Given the description of an element on the screen output the (x, y) to click on. 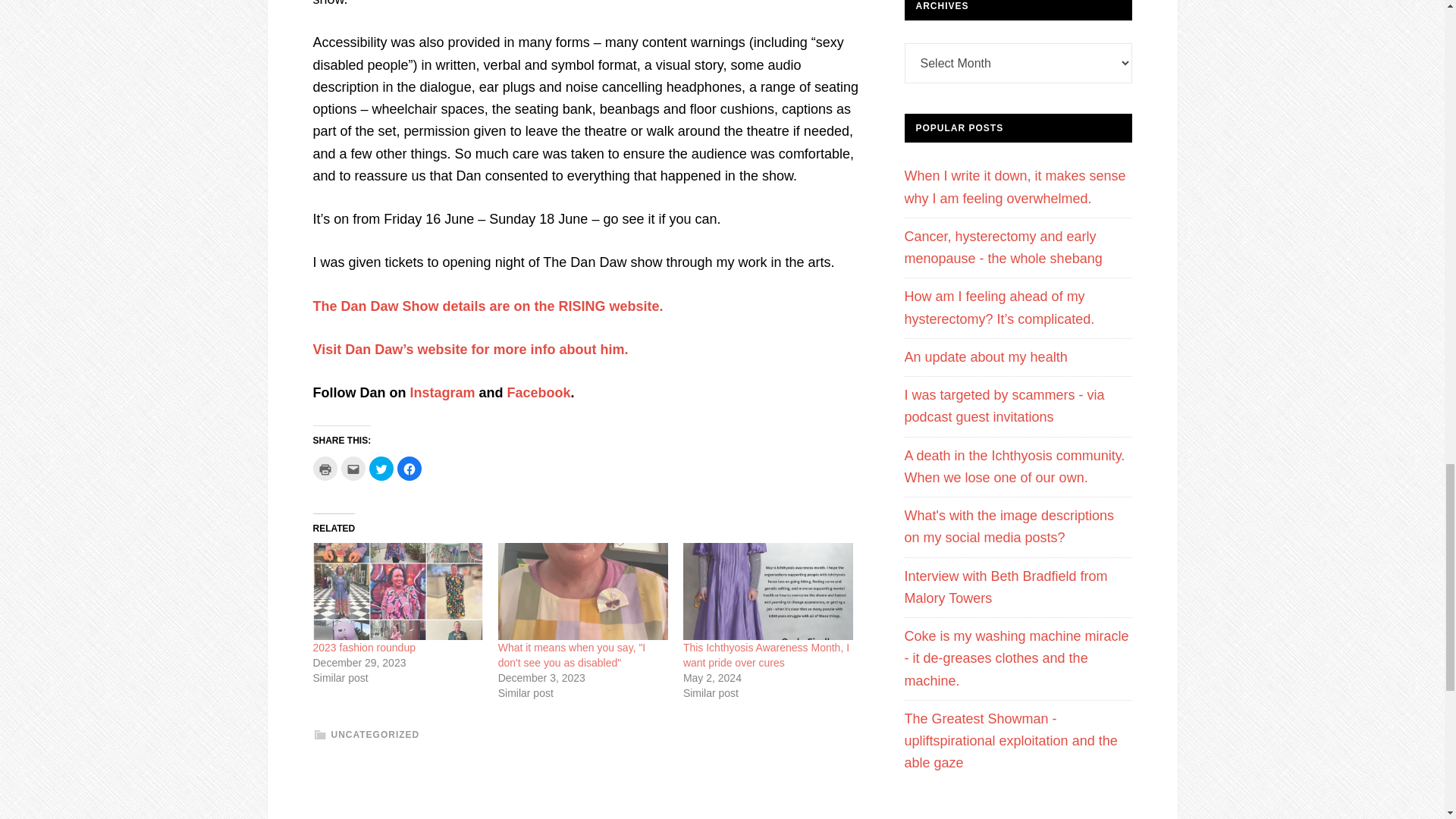
This Ichthyosis Awareness Month, I want pride over cures (767, 590)
Facebook (538, 392)
2023 fashion roundup (363, 647)
The Dan Daw Show details are on the RISING website. (487, 305)
This Ichthyosis Awareness Month, I want pride over cures (765, 655)
Click to share on Facebook (409, 468)
Click to share on Twitter (380, 468)
What it means when you say, "I don't see you as disabled" (571, 655)
What it means when you say, "I don't see you as disabled" (582, 590)
Click to email this to a friend (352, 468)
Instagram (441, 392)
UNCATEGORIZED (374, 734)
2023 fashion roundup (397, 590)
2023 fashion roundup (363, 647)
Click to print (324, 468)
